Given the description of an element on the screen output the (x, y) to click on. 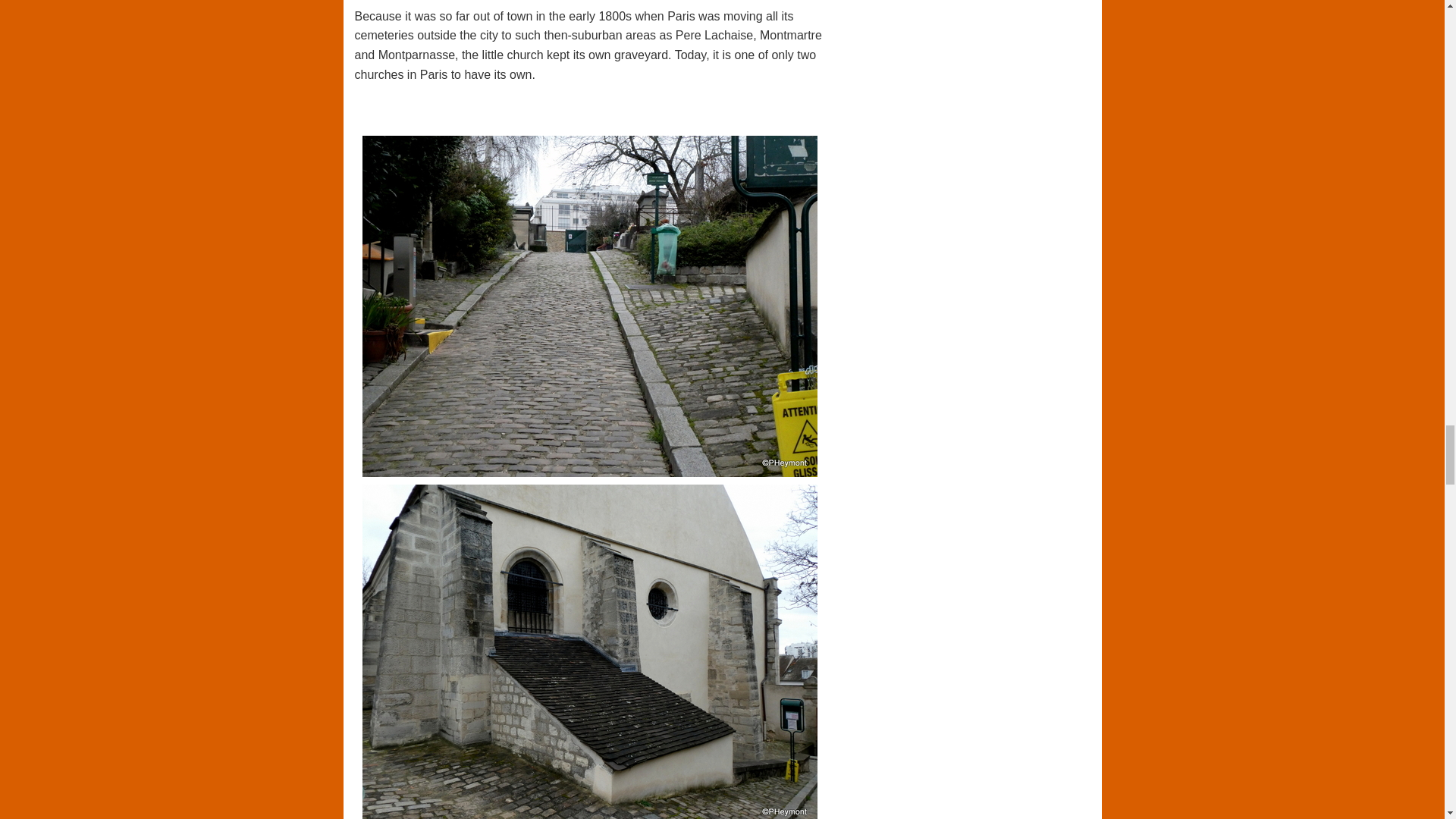
P1210210 (590, 657)
P1210209 (590, 308)
